Given the description of an element on the screen output the (x, y) to click on. 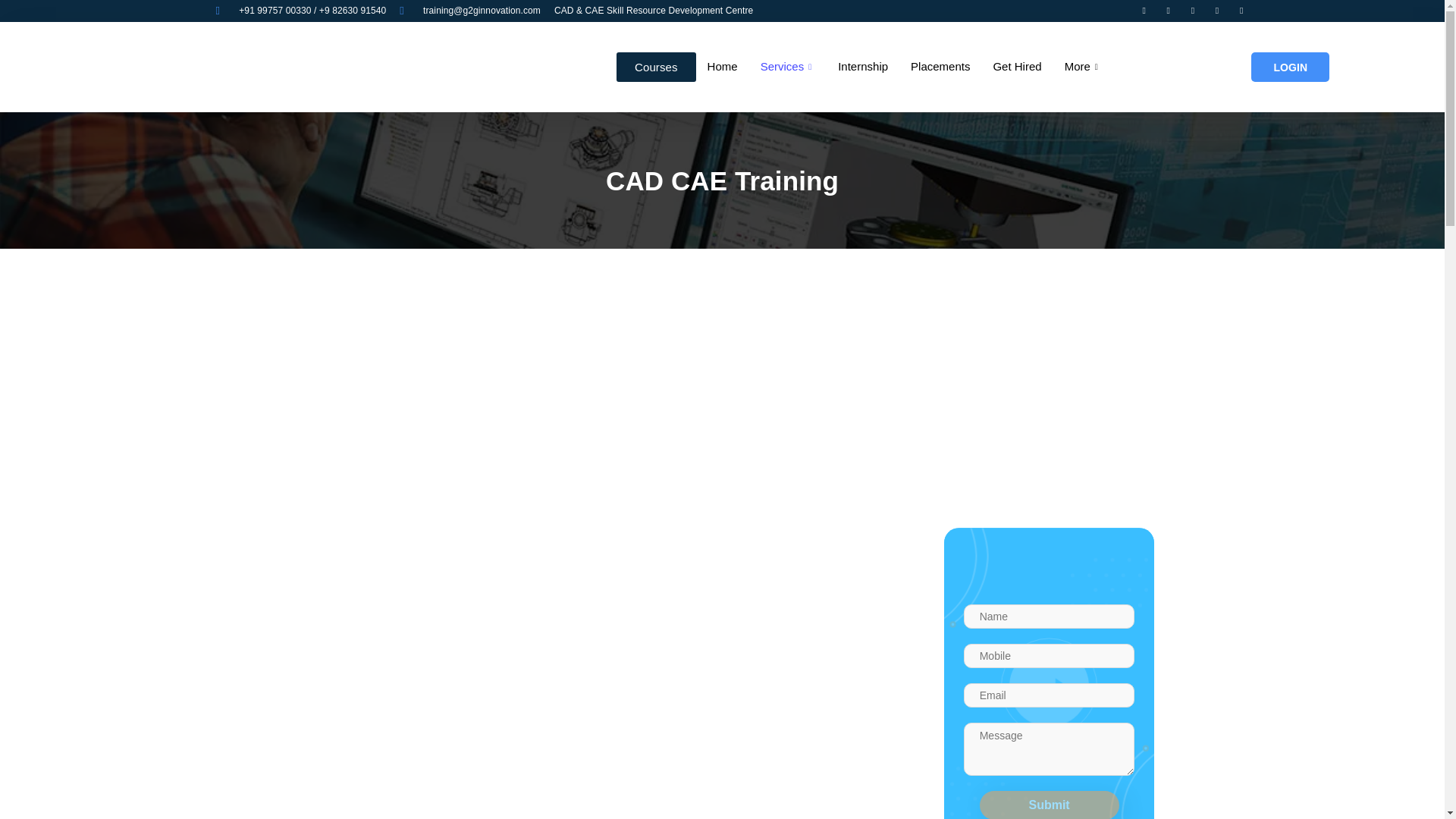
LOGIN (1289, 66)
Courses (655, 66)
More (1082, 66)
Internship (863, 66)
Home (722, 66)
Placements (940, 66)
Services (788, 66)
Get Hired (1016, 66)
